Given the description of an element on the screen output the (x, y) to click on. 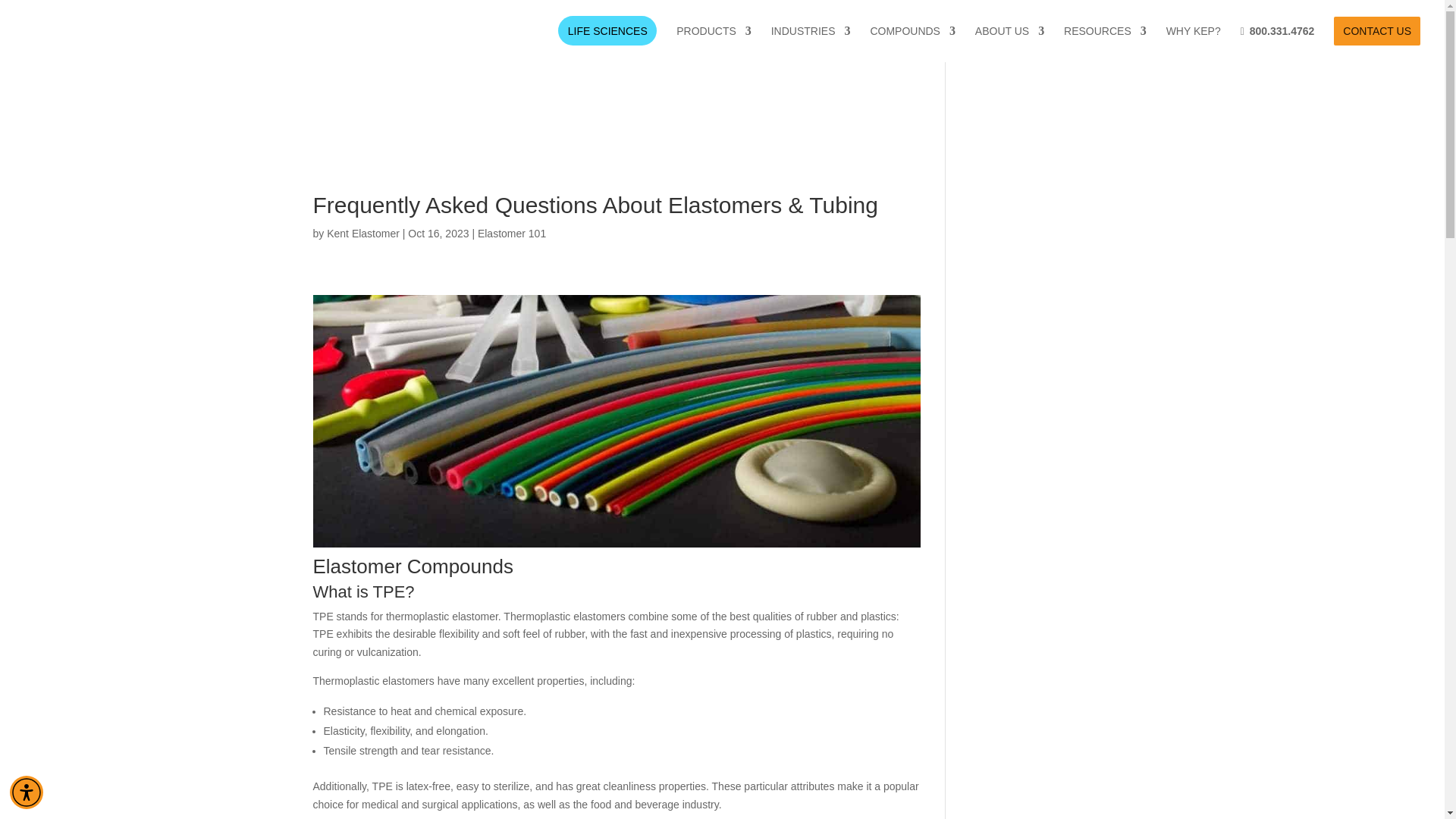
Posts by Kent Elastomer (362, 233)
Accessibility Menu (26, 792)
